Given the description of an element on the screen output the (x, y) to click on. 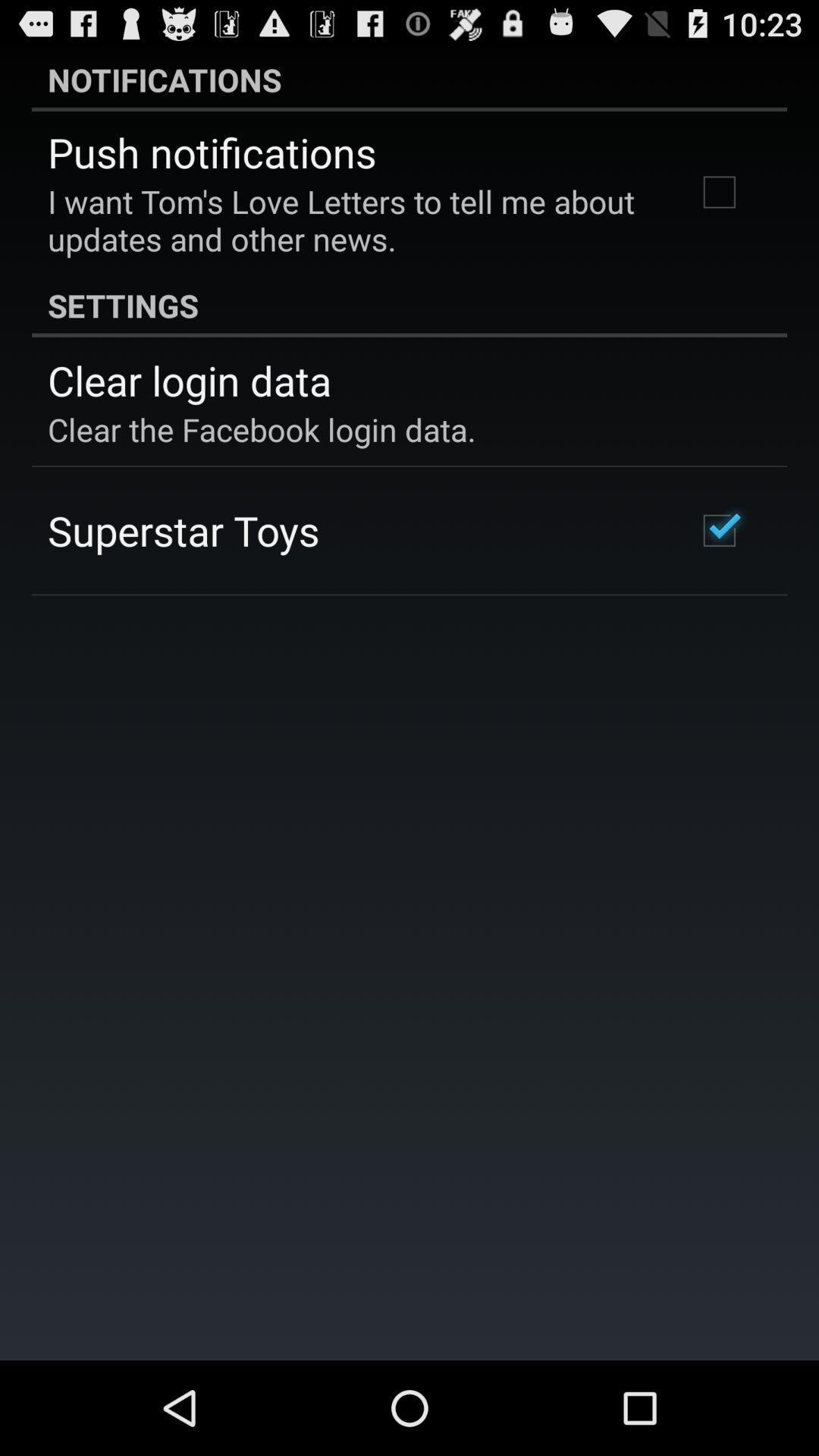
click the i want tom app (351, 219)
